Given the description of an element on the screen output the (x, y) to click on. 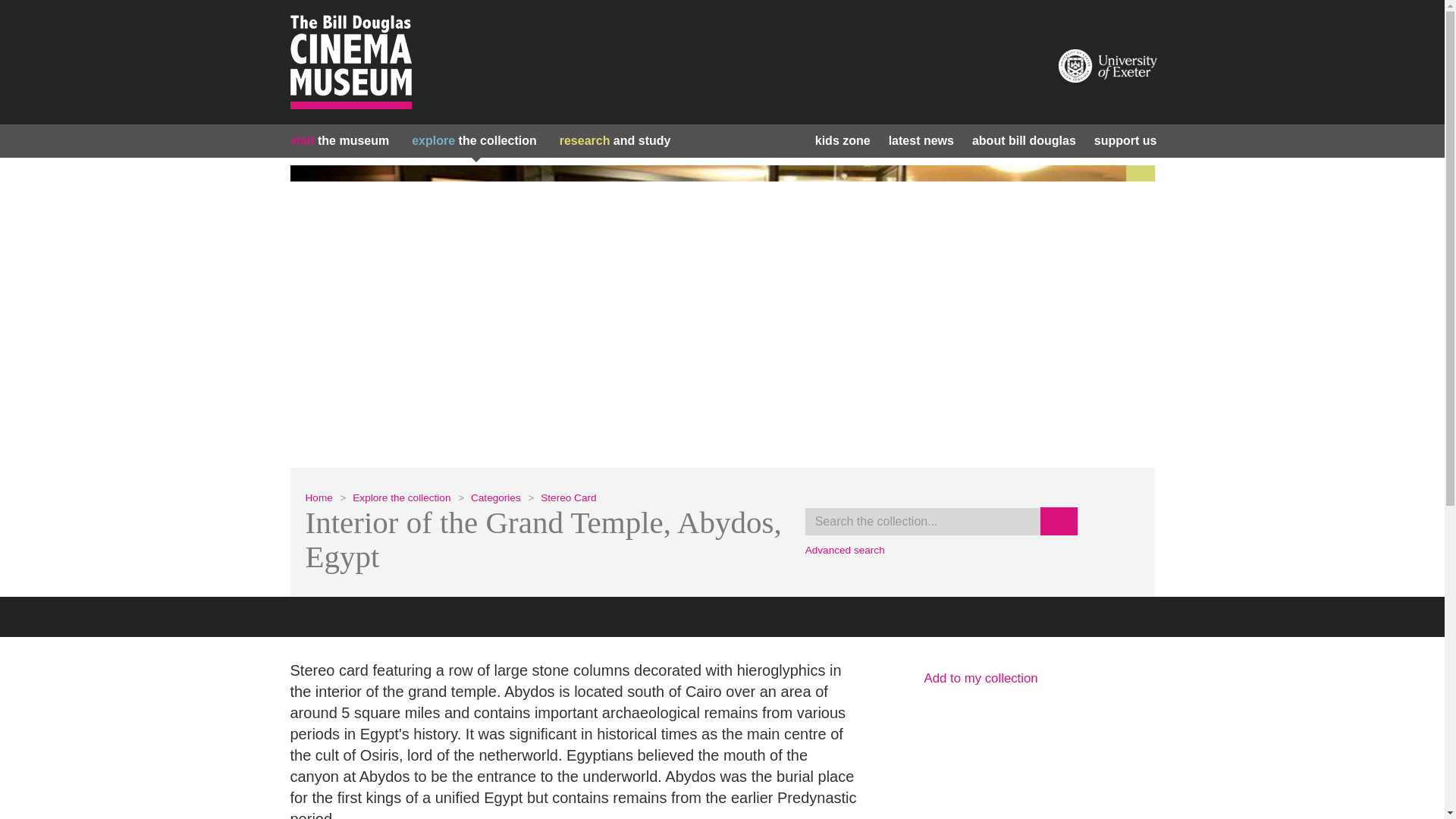
Home (317, 497)
Go to home page (349, 61)
Advanced search (845, 550)
latest news (920, 141)
Exeter University (1107, 65)
Search (1059, 520)
Stereo Card (567, 497)
about bill douglas (1023, 141)
visit the museum (340, 141)
support us (1125, 141)
explore the collection (474, 141)
Add to my collection (1017, 678)
kids zone (842, 141)
Explore the collection (400, 497)
Categories (495, 497)
